Given the description of an element on the screen output the (x, y) to click on. 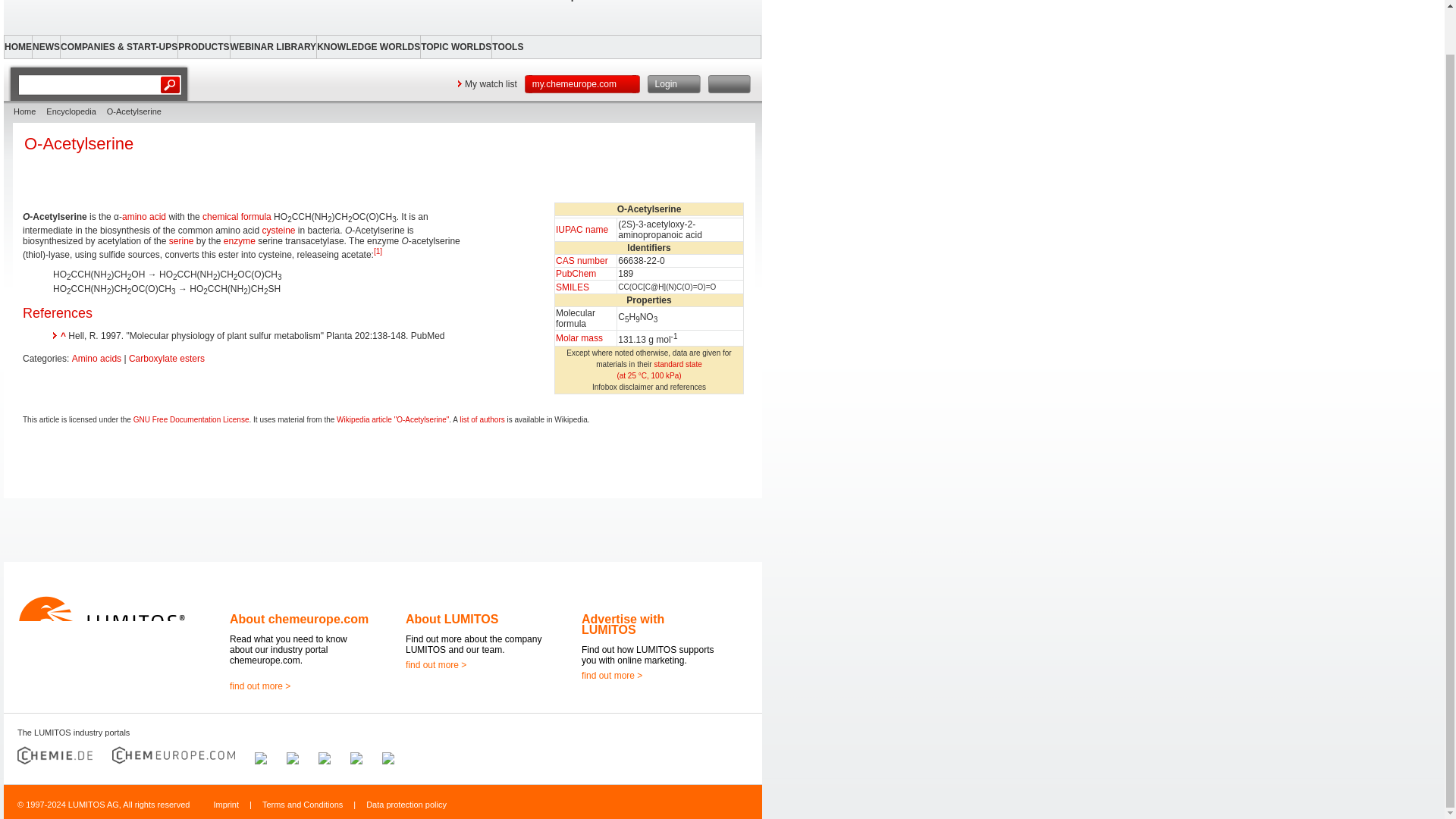
enzyme (240, 240)
Serine (180, 240)
About chemeurope.com (299, 618)
IUPAC name (582, 229)
SMILES (572, 286)
go (171, 84)
list of authors (481, 419)
Amino acid (143, 216)
PubChem (575, 273)
Molar mass (579, 337)
